Given the description of an element on the screen output the (x, y) to click on. 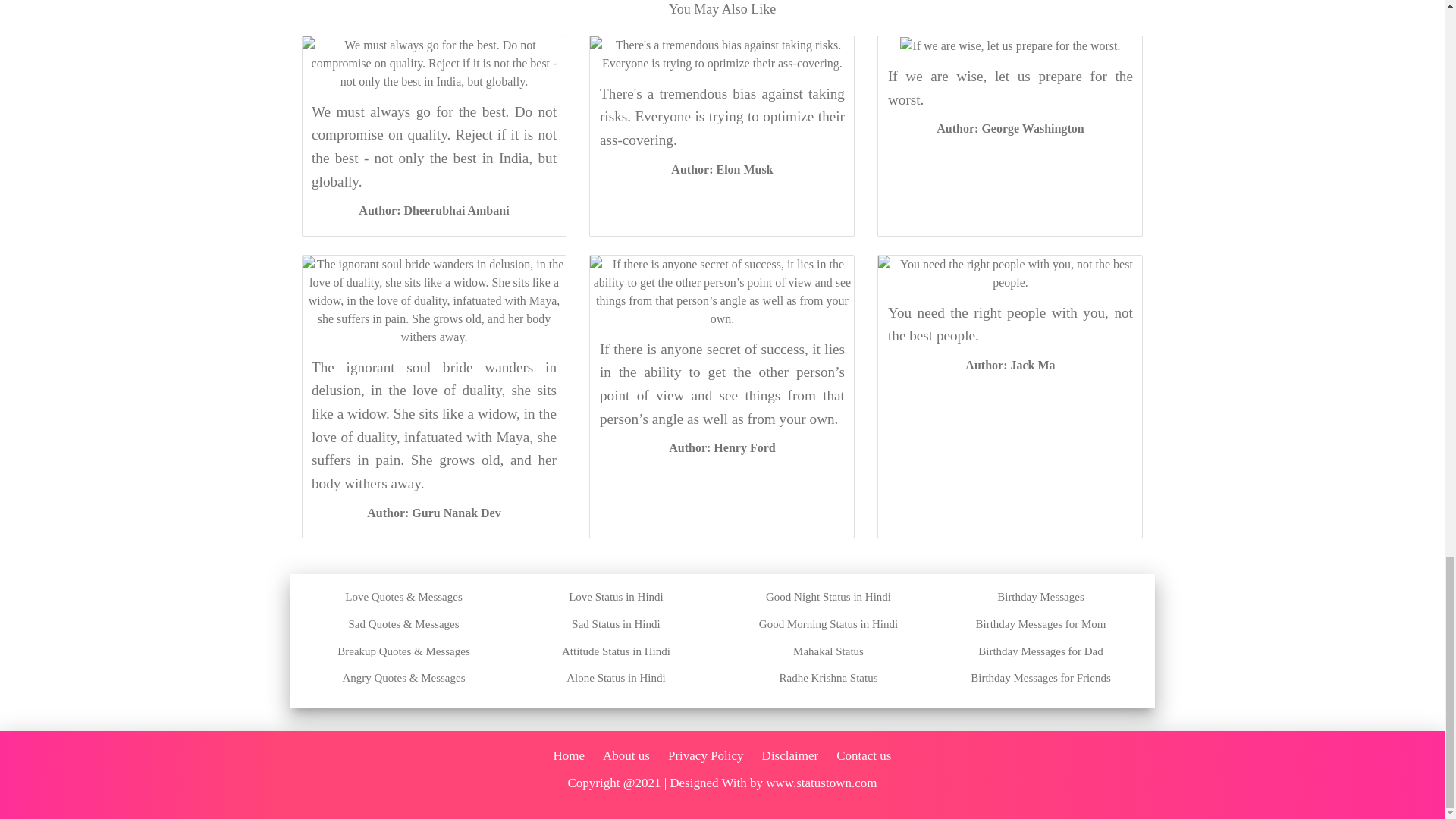
Elon Musk quotes (722, 169)
Author: Guru Nanak Dev (433, 512)
George Washington quotes (1009, 128)
Author: Elon Musk (722, 169)
Dheerubhai Ambani quotes (433, 210)
Author: Dheerubhai Ambani (433, 210)
Author: George Washington (1009, 128)
